Given the description of an element on the screen output the (x, y) to click on. 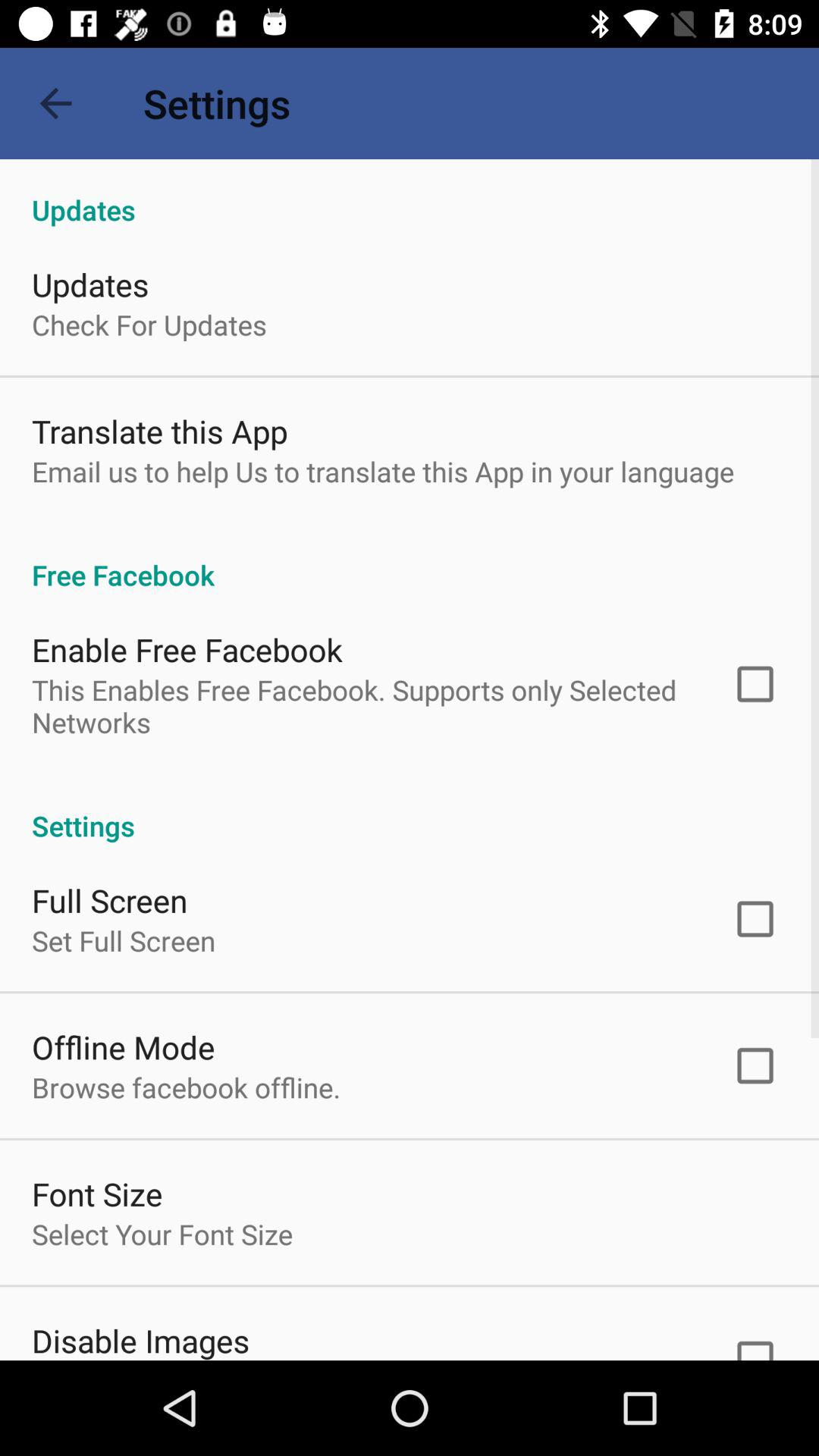
jump to the this enables free app (361, 706)
